Given the description of an element on the screen output the (x, y) to click on. 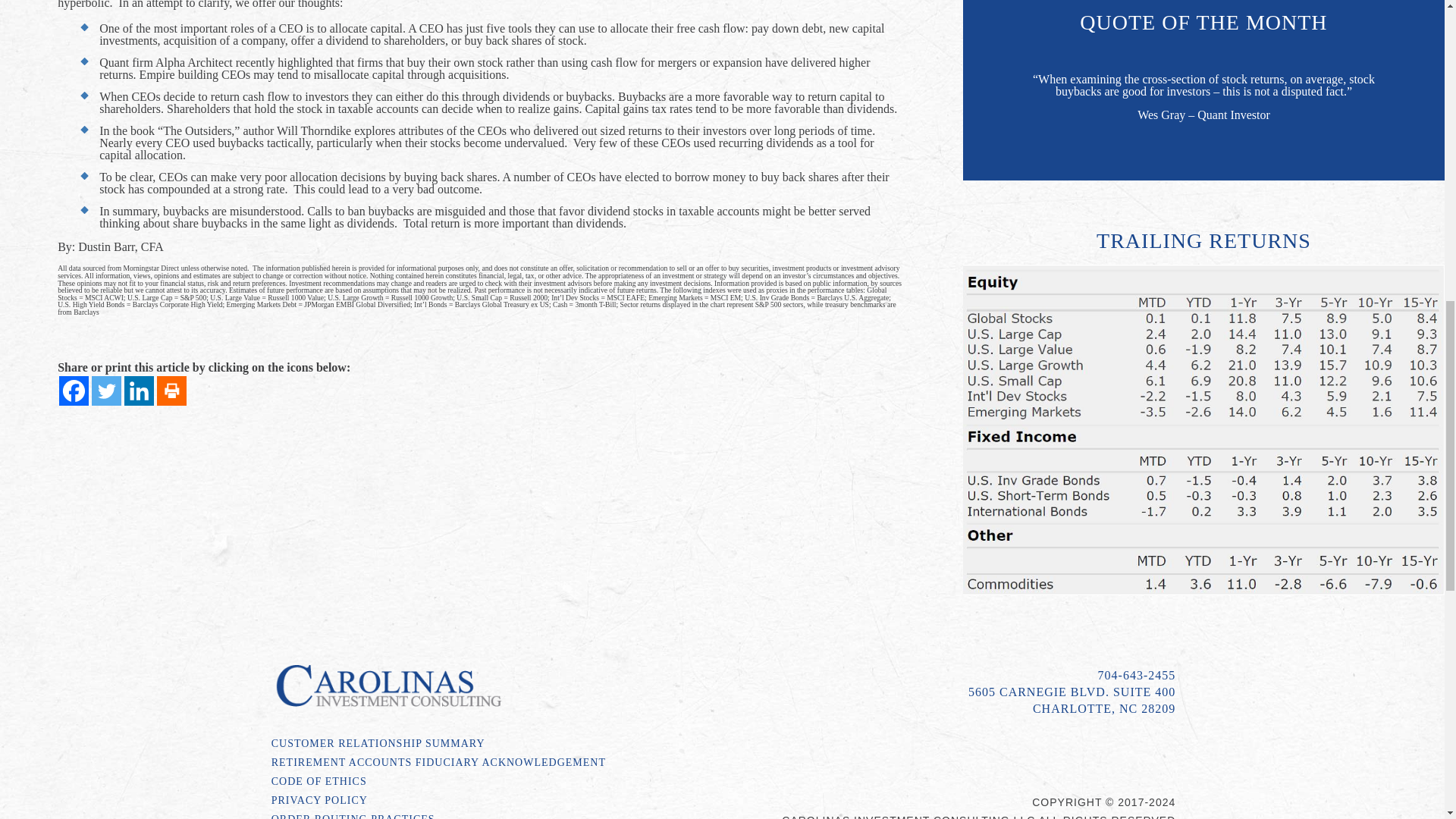
Facebook (73, 390)
CODE OF ETHICS (491, 783)
PRIVACY POLICY (491, 803)
CUSTOMER RELATIONSHIP SUMMARY (491, 746)
RETIREMENT ACCOUNTS FIDUCIARY ACKNOWLEDGEMENT (491, 764)
ORDER ROUTING PRACTICES (491, 816)
Linkedin (138, 390)
Twitter (105, 390)
Print (171, 390)
704-643-2455 (1136, 675)
